Given the description of an element on the screen output the (x, y) to click on. 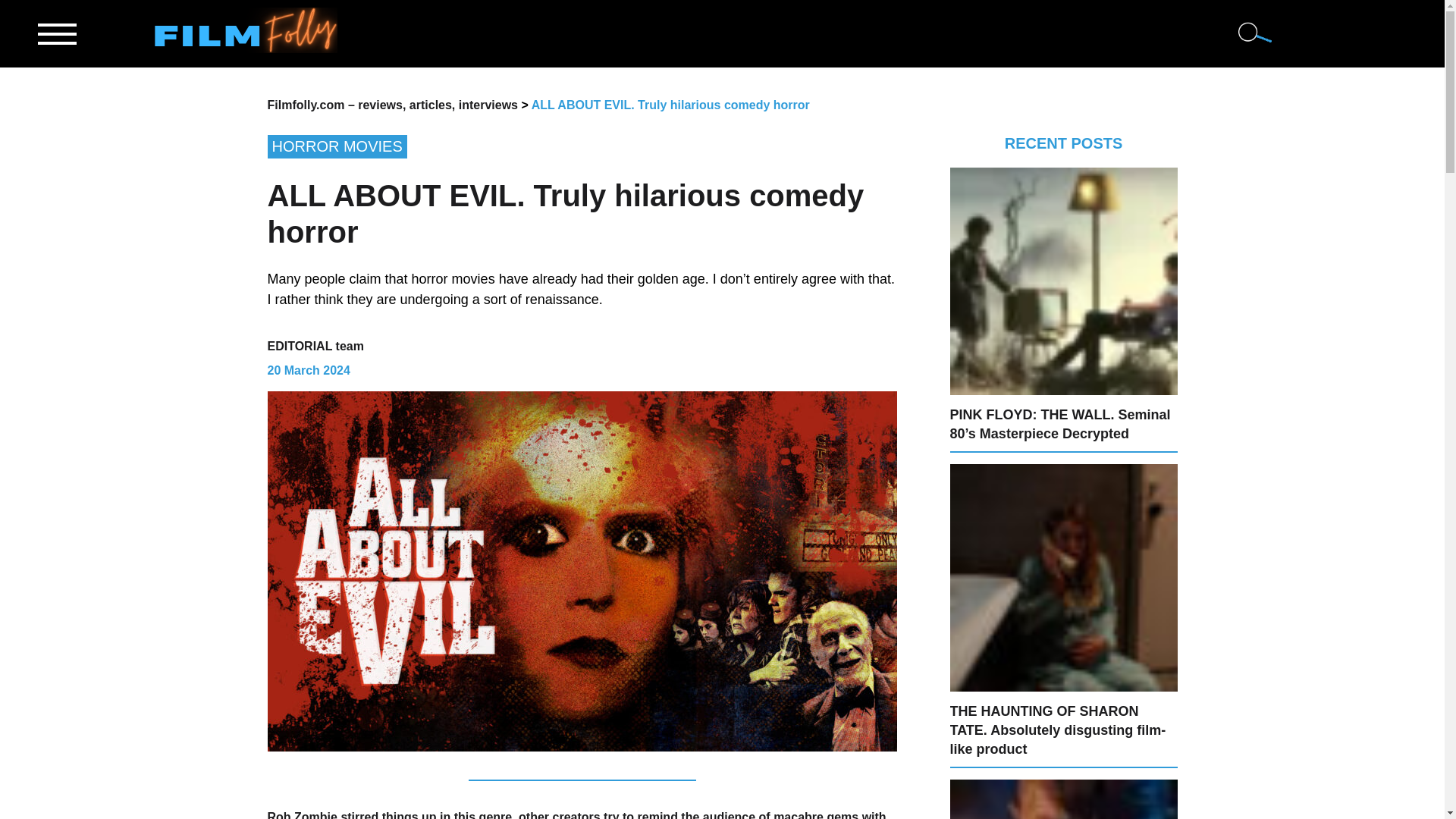
HORROR MOVIES (581, 146)
